Given the description of an element on the screen output the (x, y) to click on. 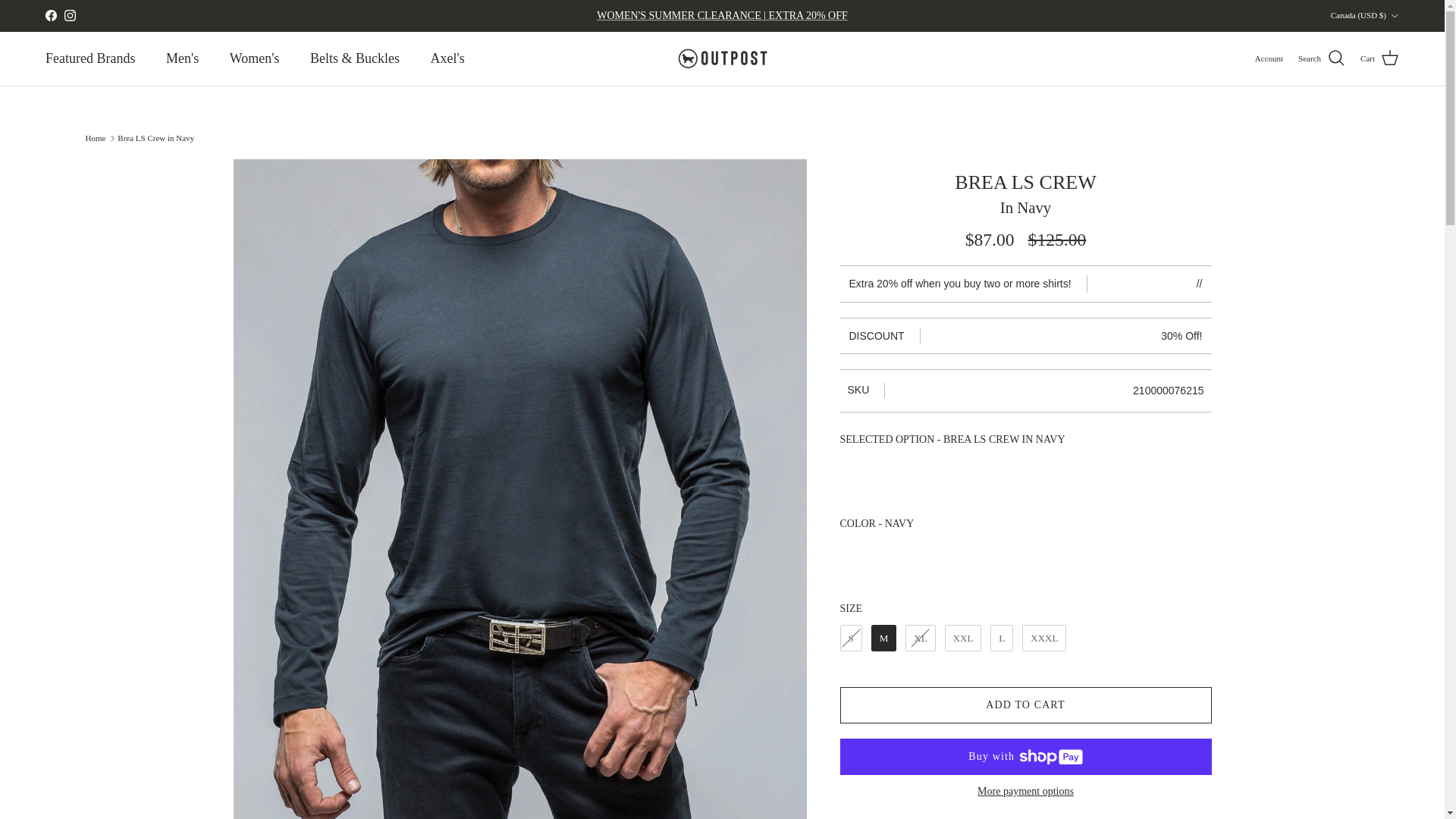
Axel's  Outpost on Instagram (69, 15)
Axel's (447, 58)
Facebook (50, 15)
Women's (254, 58)
Instagram (69, 15)
Search (1321, 57)
Cart (1379, 57)
Axel's  Outpost (722, 57)
Featured Brands (90, 58)
Account (1268, 59)
Men's (182, 58)
Axel's  Outpost on Facebook (50, 15)
